Given the description of an element on the screen output the (x, y) to click on. 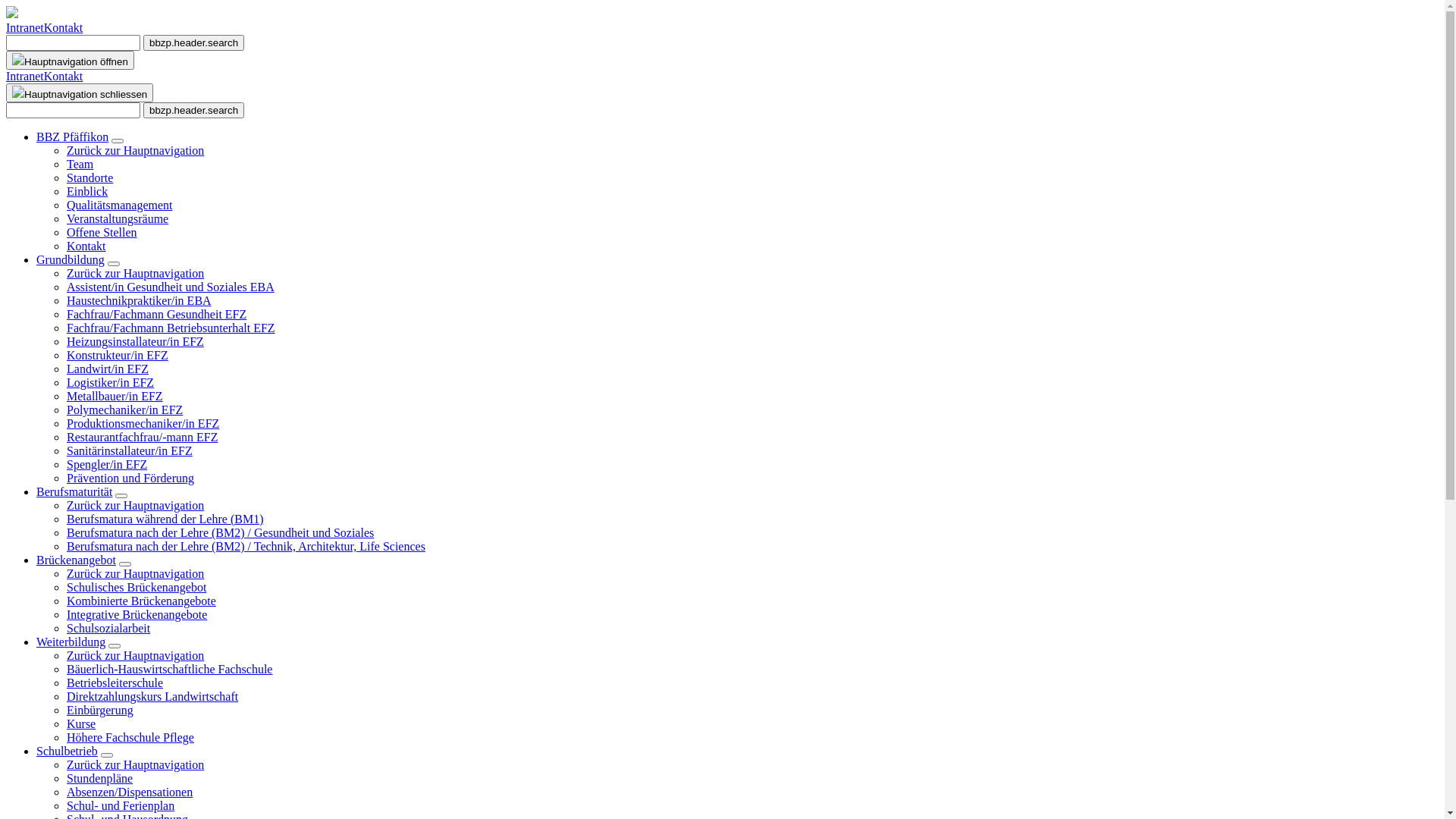
Kontakt Element type: text (63, 75)
Polymechaniker/in EFZ Element type: text (124, 409)
Betriebsleiterschule Element type: text (114, 682)
Schul- und Ferienplan Element type: text (120, 805)
Fachfrau/Fachmann Gesundheit EFZ Element type: text (156, 313)
Restaurantfachfrau/-mann EFZ Element type: text (141, 436)
Grundbildung Element type: text (70, 259)
Team Element type: text (79, 163)
Kurse Element type: text (80, 723)
Metallbauer/in EFZ Element type: text (114, 395)
Landwirt/in EFZ Element type: text (107, 368)
Kontakt Element type: text (86, 245)
Heizungsinstallateur/in EFZ Element type: text (134, 341)
Hauptnavigation schliessen Element type: text (79, 92)
Einblick Element type: text (86, 191)
Schulbetrieb Element type: text (66, 750)
Berufsmatura nach der Lehre (BM2) / Gesundheit und Soziales Element type: text (219, 532)
Produktionsmechaniker/in EFZ Element type: text (142, 423)
Schulsozialarbeit Element type: text (108, 627)
Intranet Element type: text (24, 75)
Assistent/in Gesundheit und Soziales EBA Element type: text (170, 286)
Logistiker/in EFZ Element type: text (109, 382)
Haustechnikpraktiker/in EBA Element type: text (138, 300)
bbzp.header.search Element type: text (193, 110)
Direktzahlungskurs Landwirtschaft Element type: text (152, 696)
Intranet Element type: text (24, 27)
Fachfrau/Fachmann Betriebsunterhalt EFZ Element type: text (170, 327)
Standorte Element type: text (89, 177)
Kontakt Element type: text (63, 27)
Offene Stellen Element type: text (101, 231)
Absenzen/Dispensationen Element type: text (129, 791)
bbzp.header.search Element type: text (193, 42)
Konstrukteur/in EFZ Element type: text (117, 354)
Weiterbildung Element type: text (70, 641)
Spengler/in EFZ Element type: text (106, 464)
